Given the description of an element on the screen output the (x, y) to click on. 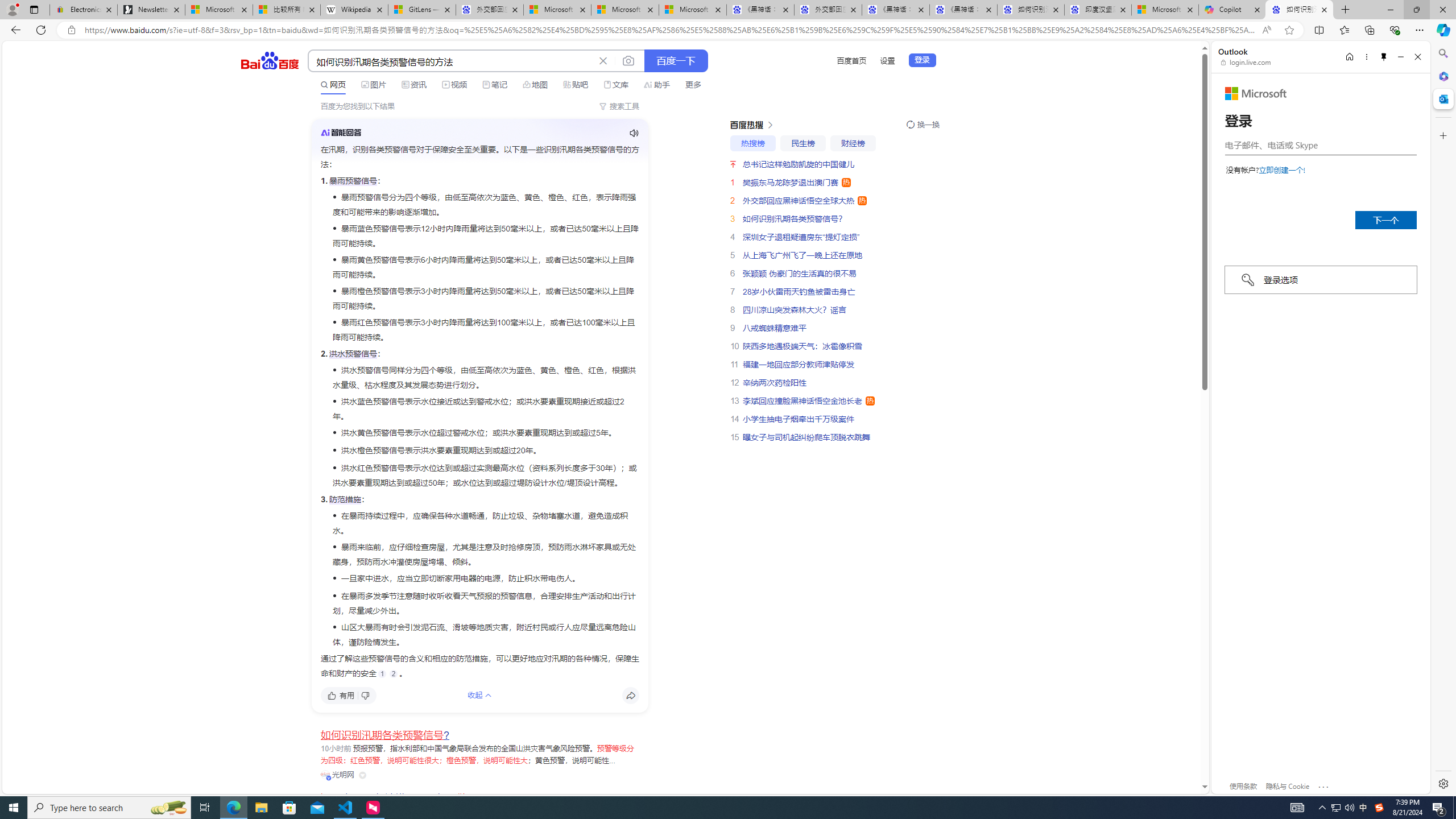
Outlook (1442, 98)
